Given the description of an element on the screen output the (x, y) to click on. 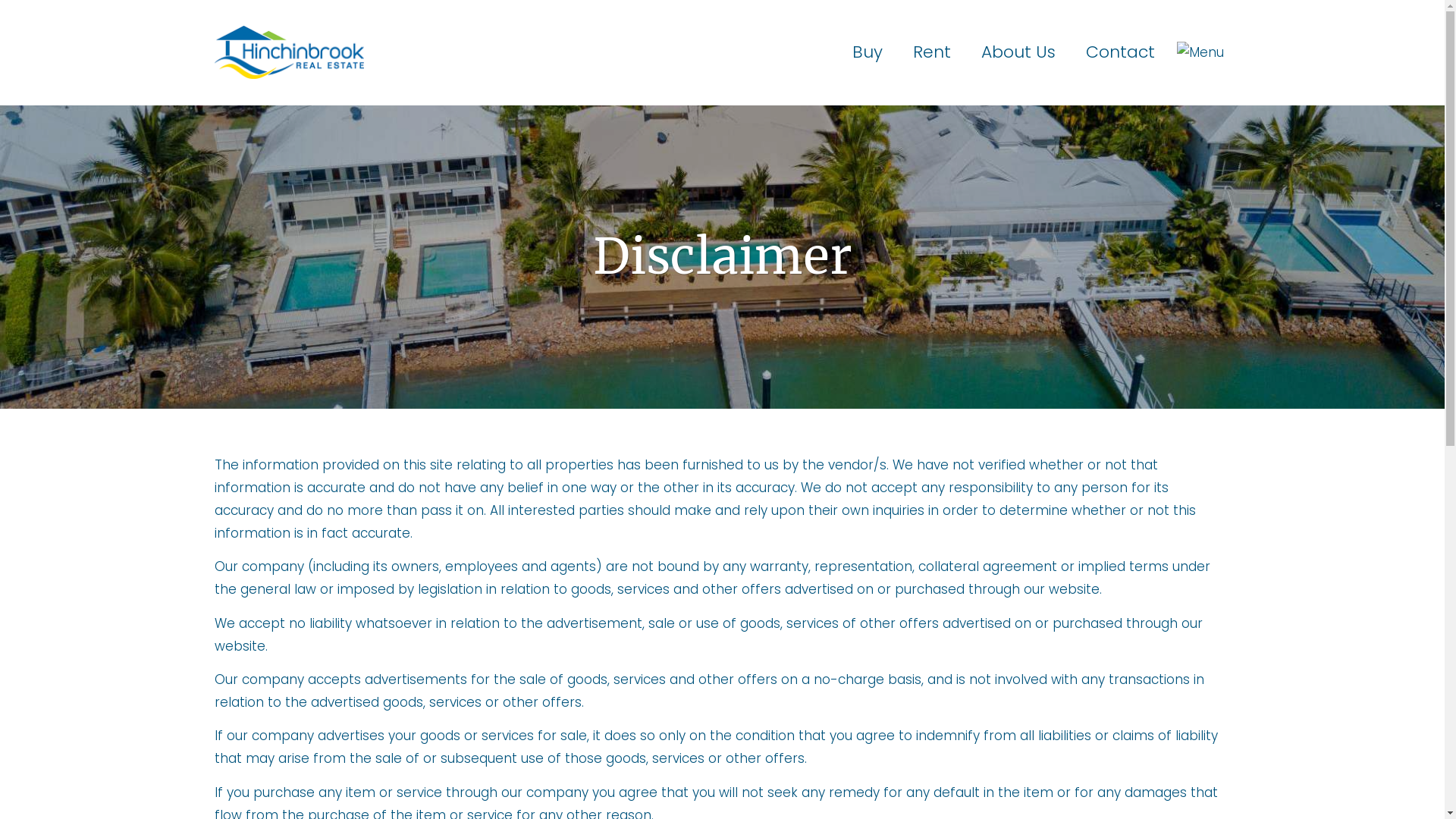
Buy Element type: text (867, 52)
Contact Element type: text (1120, 52)
Hinchinbrook Real Estate Element type: hover (288, 51)
About Us Element type: text (1018, 52)
Rent Element type: text (931, 52)
